Given the description of an element on the screen output the (x, y) to click on. 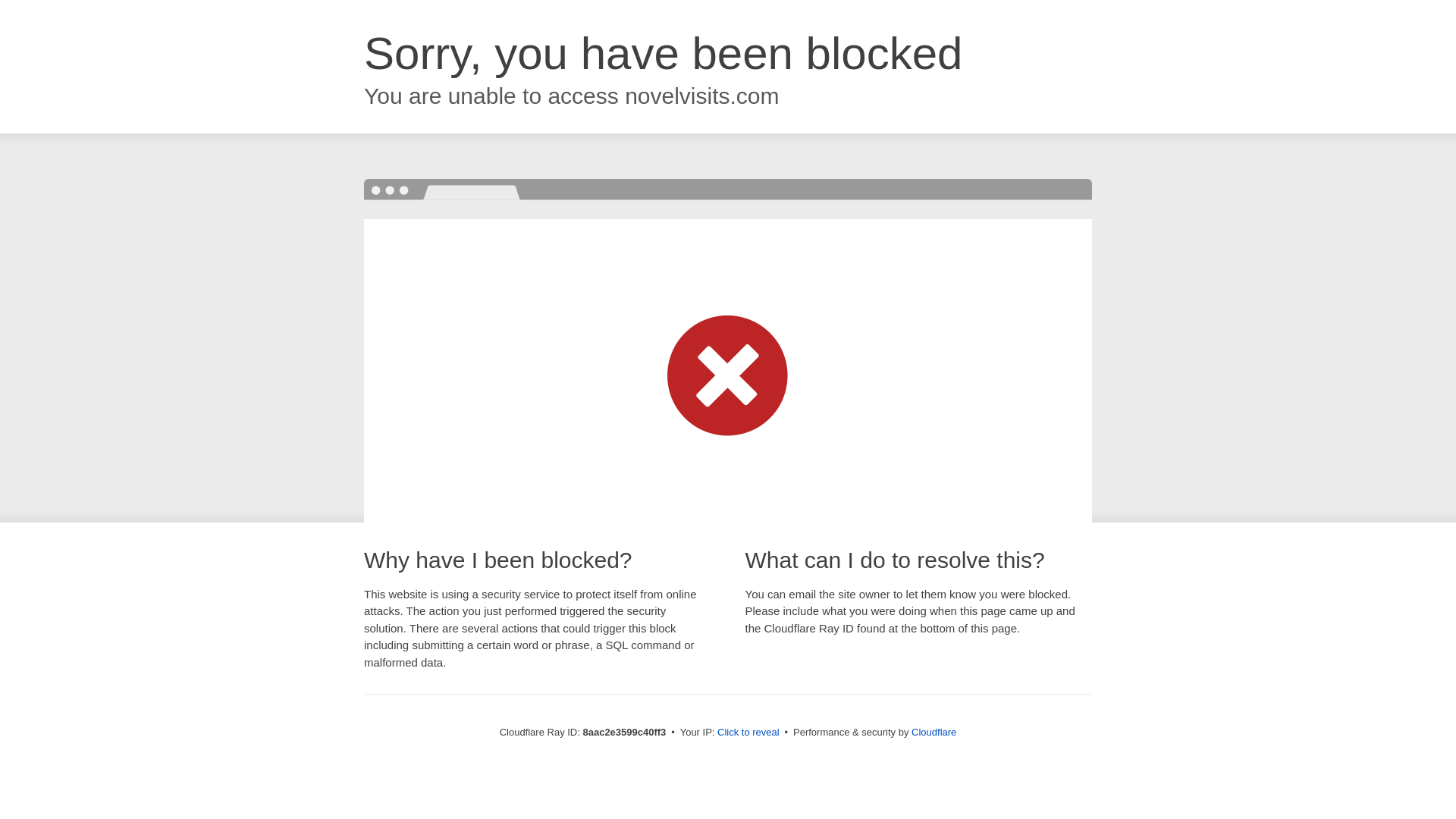
Click to reveal (747, 732)
Cloudflare (933, 731)
